Given the description of an element on the screen output the (x, y) to click on. 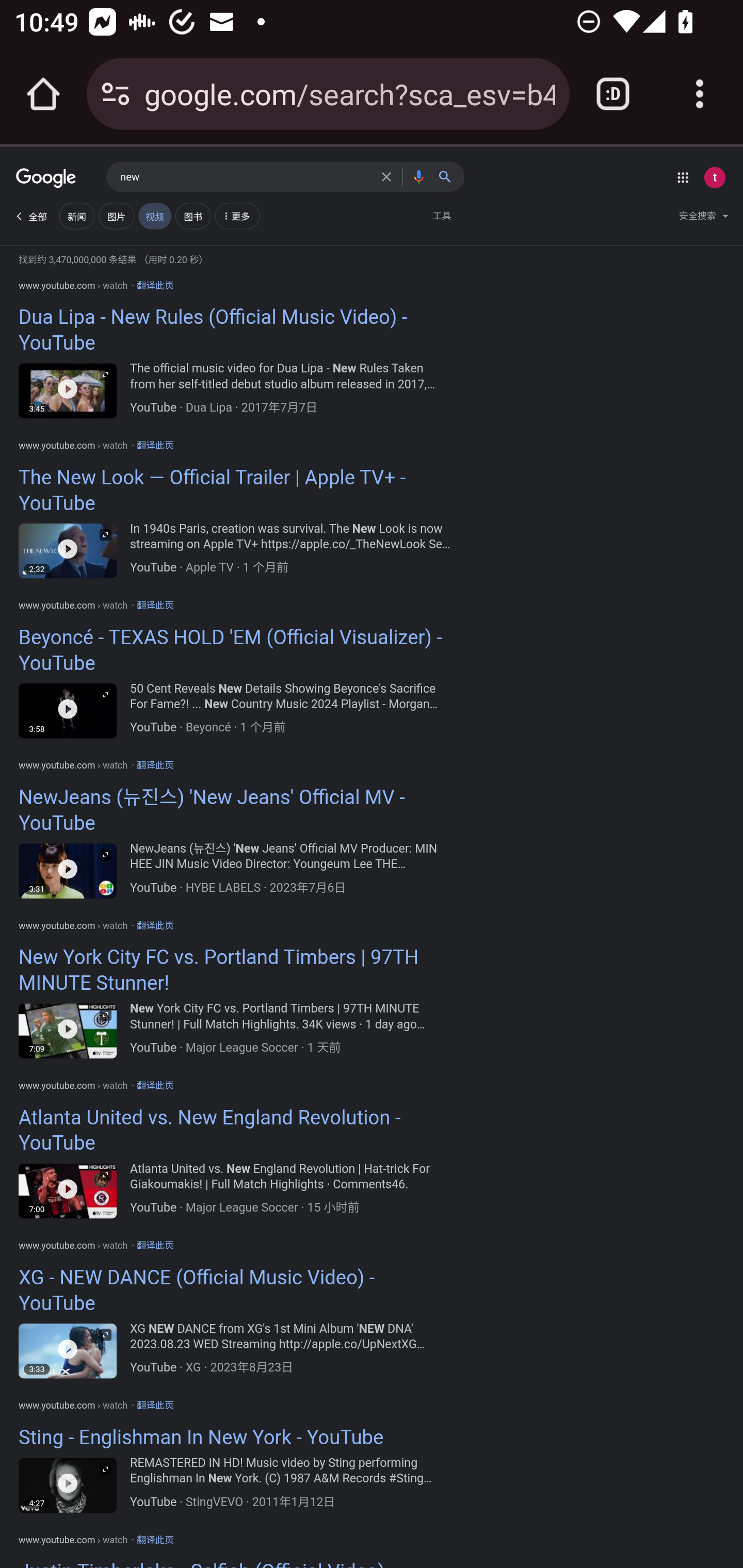
Open the home page (43, 93)
Connection is secure (115, 93)
Switch or close tabs (612, 93)
Customize and control Google Chrome (699, 93)
清除 (389, 176)
按语音搜索 (418, 176)
Google 搜索 (448, 176)
Google 应用 (682, 177)
Google 账号： test appium (testappium002@gmail.com) (714, 177)
Google (46, 179)
new (245, 177)
全部 (30, 215)
新闻 (75, 215)
图片 (116, 215)
视频 (154, 215)
图书 (192, 215)
More Filters (236, 217)
工具 (441, 215)
安全搜索 (703, 217)
翻译此页 (154, 284)
翻译此页 (154, 446)
翻译此页 (154, 605)
翻译此页 (154, 765)
翻译此页 (154, 924)
翻译此页 (154, 1085)
翻译此页 (154, 1245)
翻译此页 (154, 1405)
翻译此页 (154, 1539)
